Given the description of an element on the screen output the (x, y) to click on. 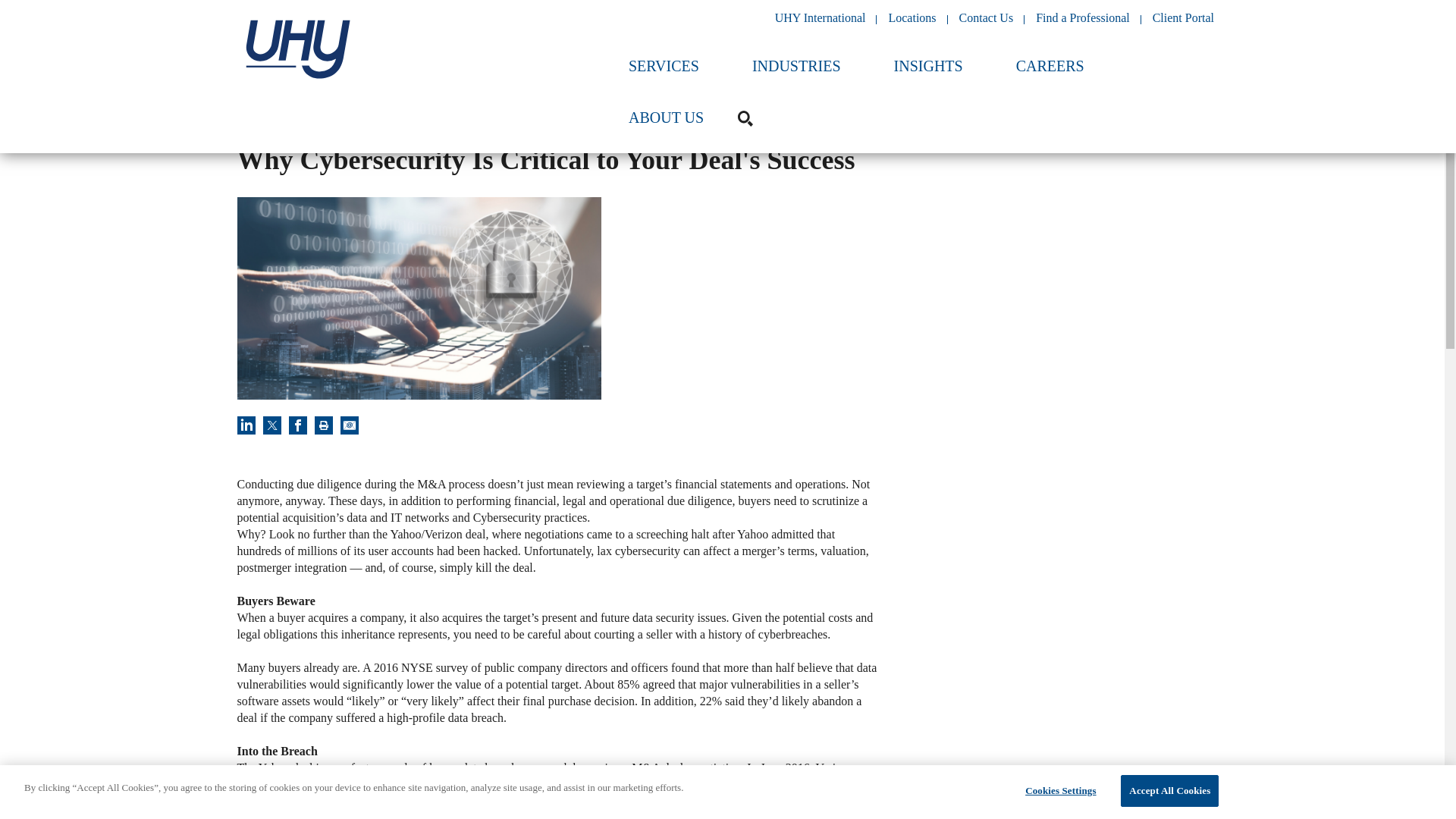
Locations (912, 17)
INDUSTRIES (796, 74)
SERVICES (663, 74)
Contact Us (986, 17)
Client Portal (1183, 17)
Find a Professional (1082, 17)
UHY International (820, 17)
